Given the description of an element on the screen output the (x, y) to click on. 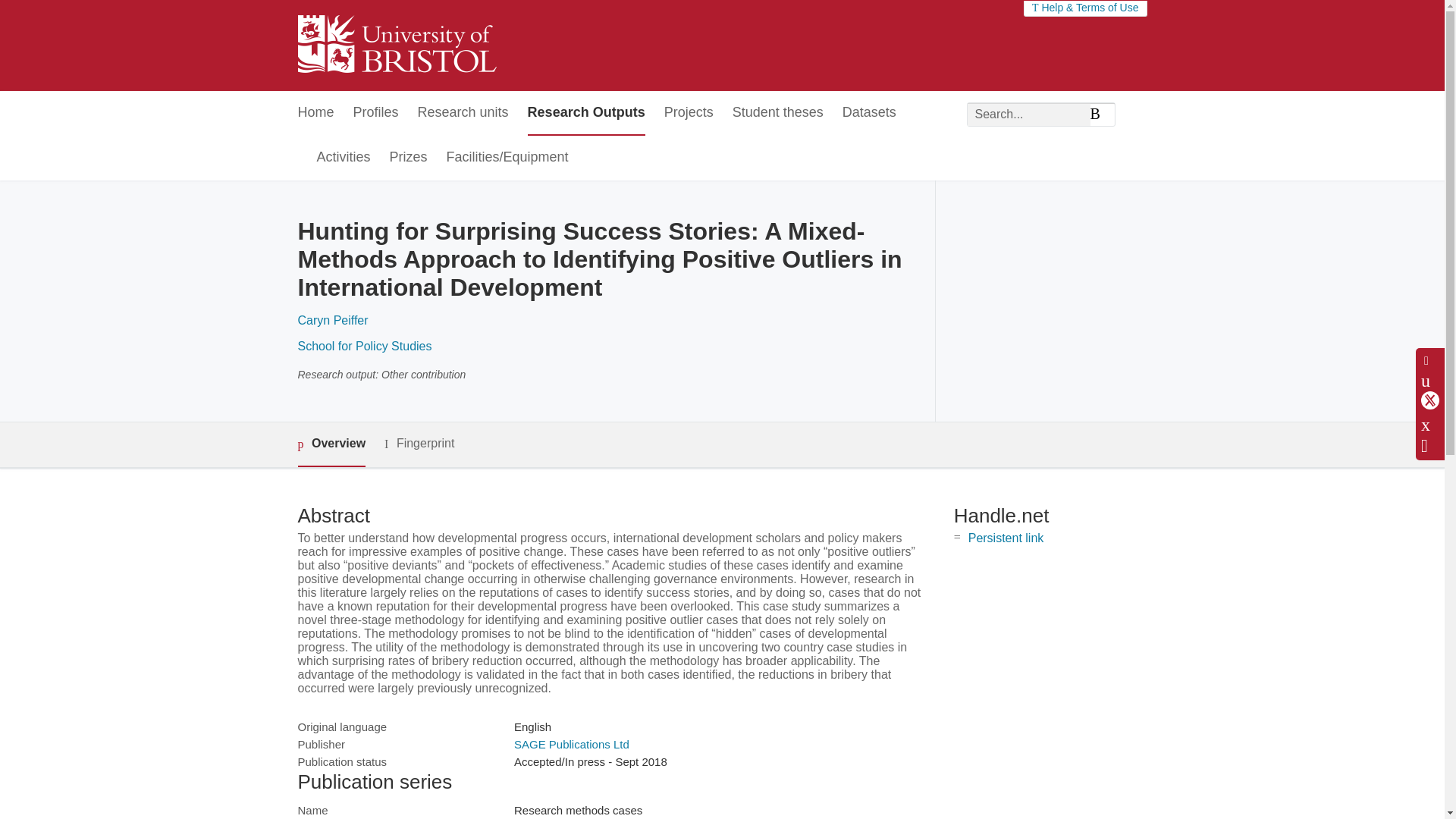
SAGE Publications Ltd (570, 744)
Home (315, 112)
University of Bristol Home (396, 45)
Prizes (409, 157)
Research units (462, 112)
Fingerprint (419, 444)
Research Outputs (586, 112)
Overview (331, 444)
Caryn Peiffer (332, 319)
Profiles (375, 112)
Student theses (778, 112)
Activities (344, 157)
Projects (688, 112)
Datasets (869, 112)
School for Policy Studies (363, 345)
